Given the description of an element on the screen output the (x, y) to click on. 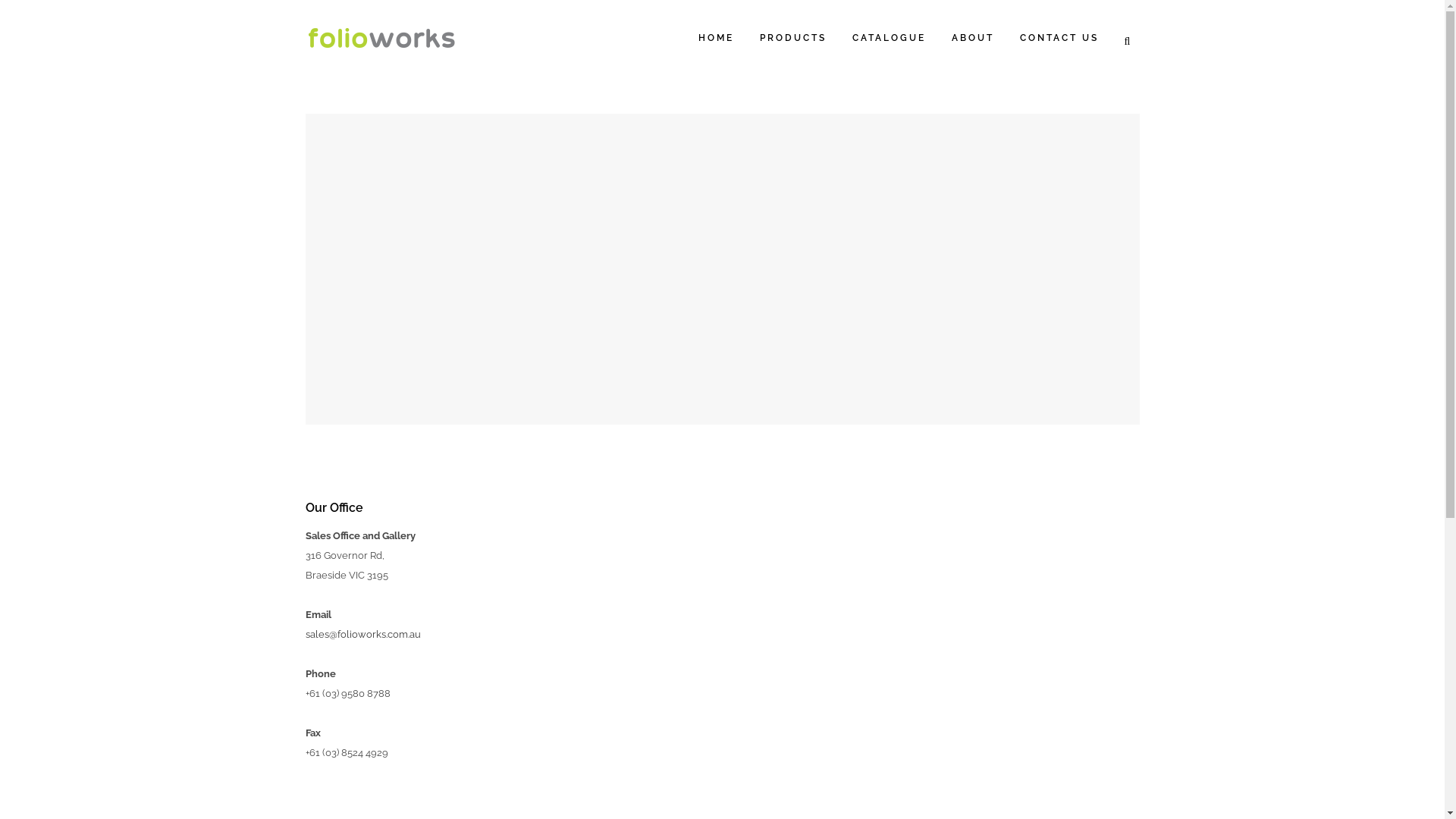
Contact Element type: text (546, 718)
Lounge Seating Element type: text (412, 658)
Environmental Sustainability Policy Element type: text (609, 689)
CATALOGUE Element type: text (888, 37)
Chairs Element type: text (412, 629)
ABOUT Element type: text (972, 37)
HOME Element type: text (715, 37)
Privacy Policy Element type: text (561, 630)
Stools Element type: text (412, 688)
Terms and Conditions Element type: text (579, 659)
Tables Element type: text (412, 717)
PRODUCTS Element type: text (792, 37)
sales@folioworks.com.au Element type: text (362, 634)
CONTACT US Element type: text (1059, 37)
